Given the description of an element on the screen output the (x, y) to click on. 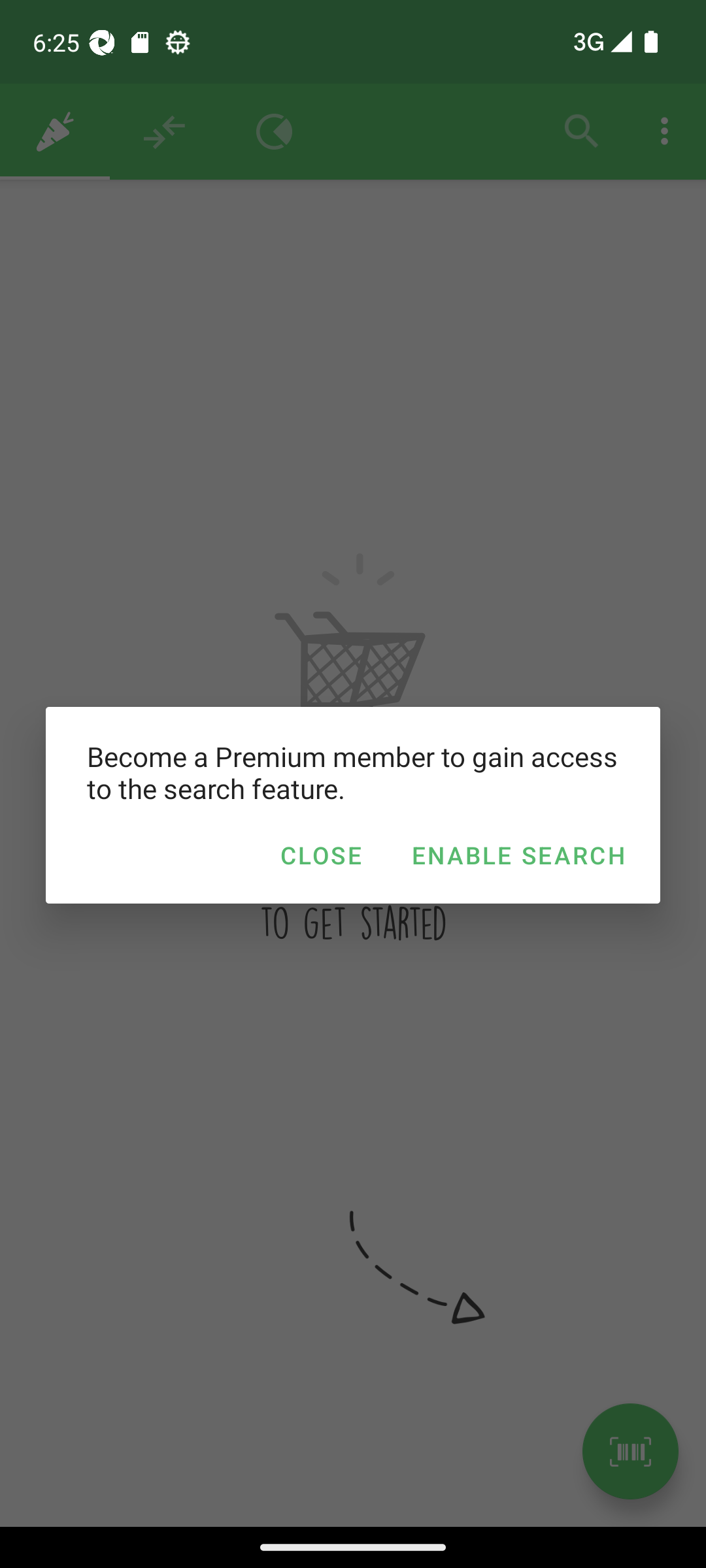
CLOSE (320, 854)
ENABLE SEARCH (517, 854)
